Given the description of an element on the screen output the (x, y) to click on. 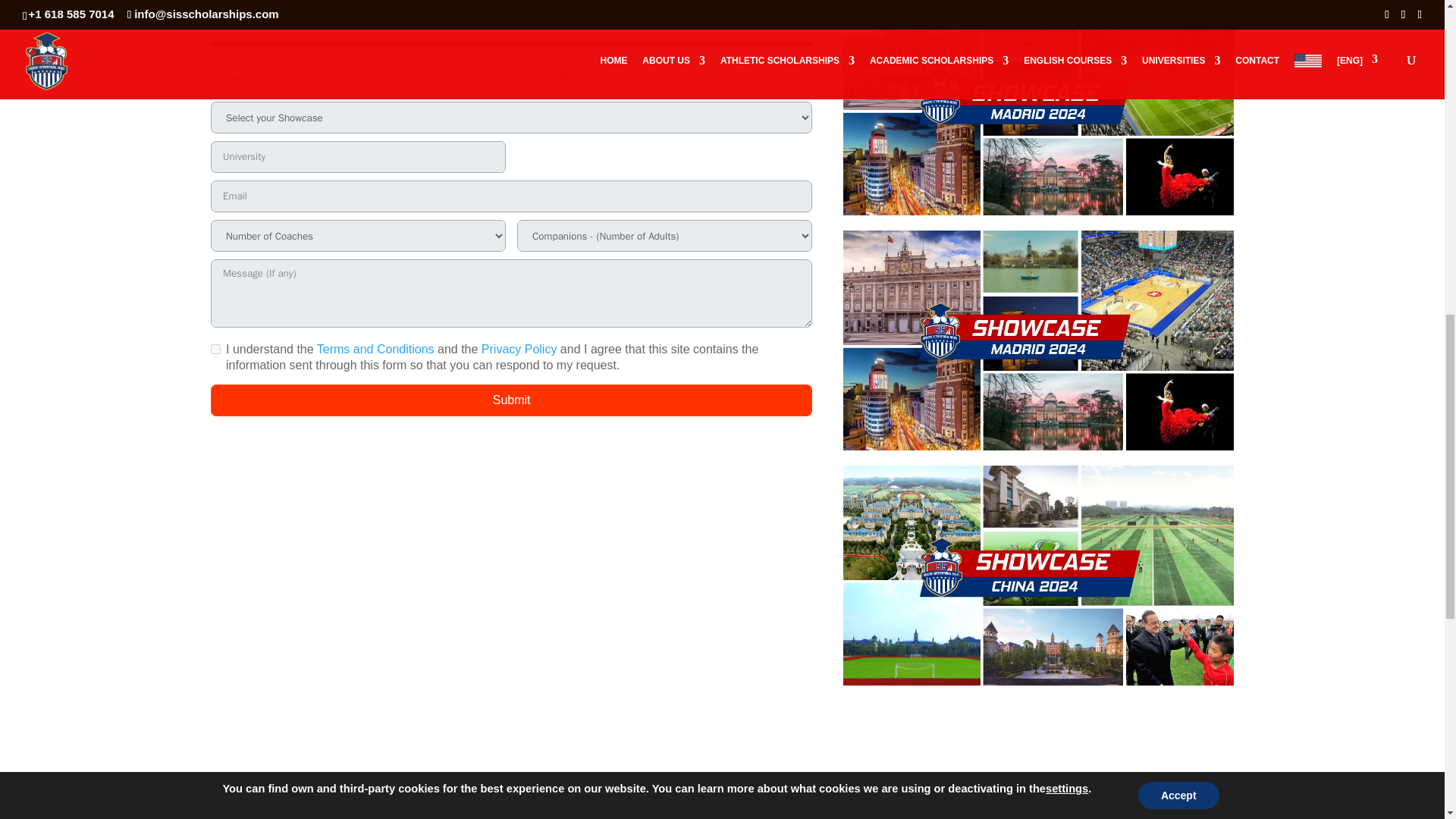
Madrid Basketball Showcase (1038, 340)
China Soccer Showcase (1038, 575)
Madrid Soccer Showcase (1038, 107)
on (216, 348)
